Given the description of an element on the screen output the (x, y) to click on. 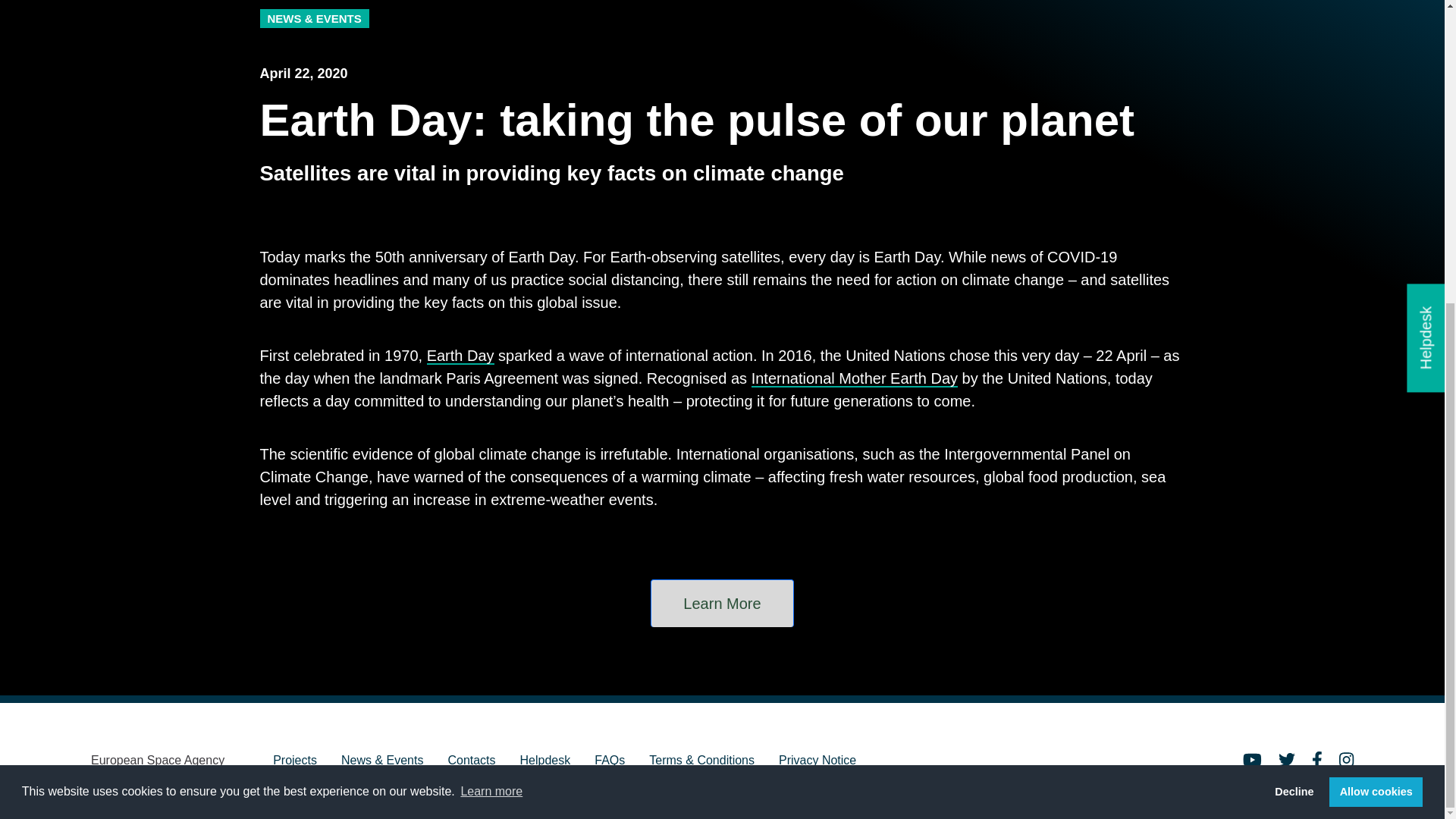
Allow cookies (1375, 317)
International Mother Earth Day (854, 378)
Contacts (470, 760)
Helpdesk (544, 760)
Decline (1294, 317)
Earth Day (460, 355)
FAQs (609, 760)
Projects (295, 760)
Learn More (721, 603)
Learn more (491, 316)
